Given the description of an element on the screen output the (x, y) to click on. 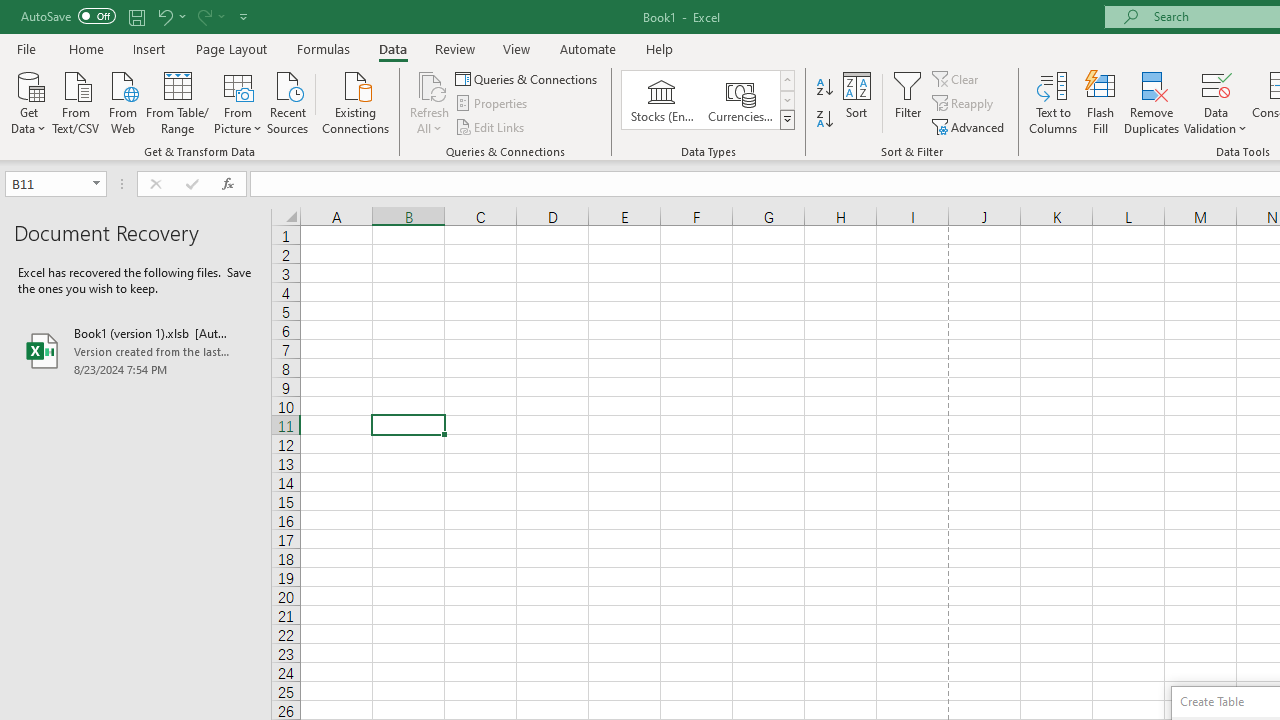
Data Validation... (1215, 84)
Class: NetUIImage (787, 119)
Text to Columns... (1053, 102)
Row up (786, 79)
Currencies (English) (740, 100)
Properties (492, 103)
From Table/Range (177, 101)
Sort... (856, 102)
Refresh All (429, 102)
Reapply (964, 103)
Queries & Connections (527, 78)
